Given the description of an element on the screen output the (x, y) to click on. 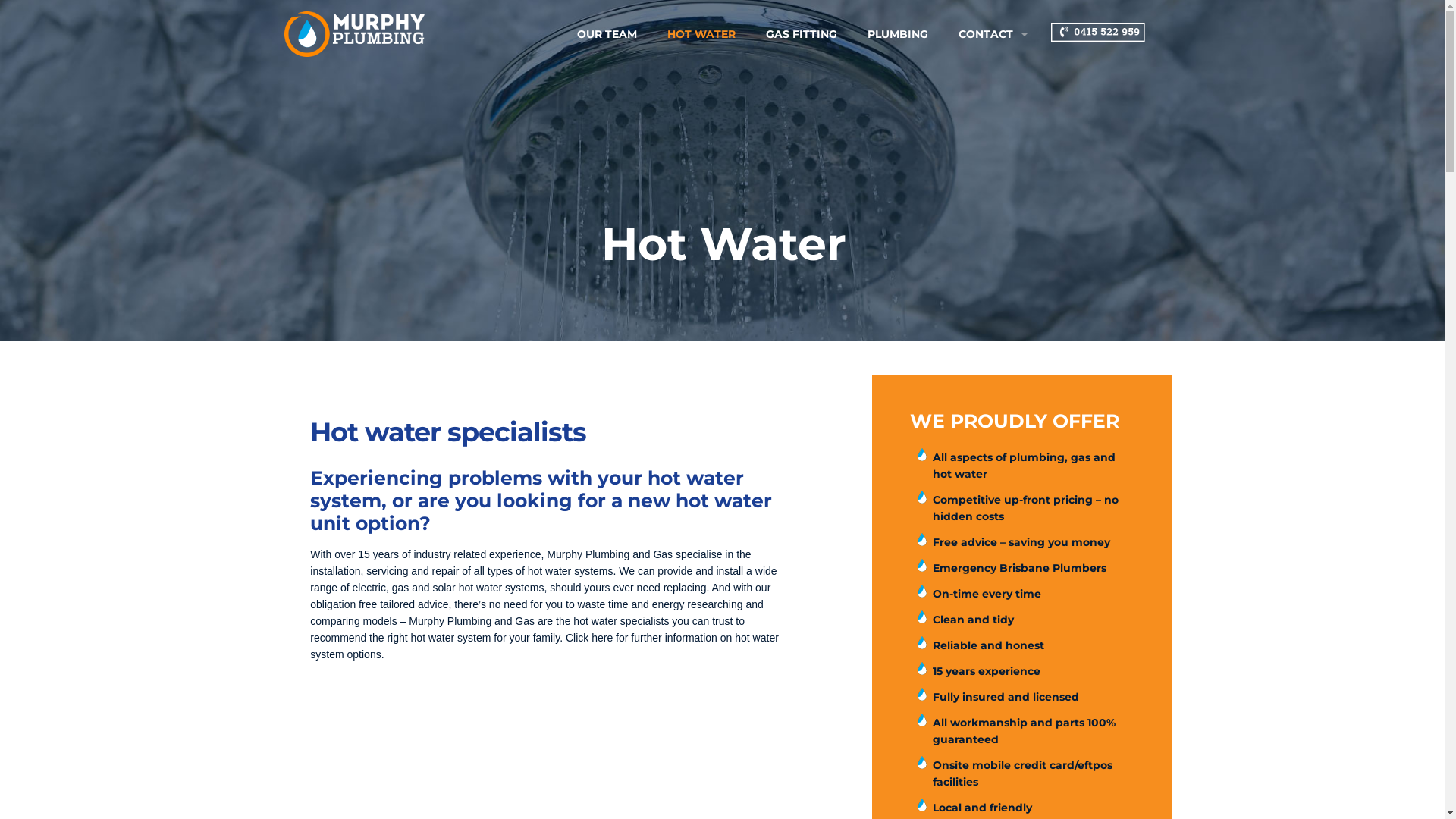
PLUMBING Element type: text (897, 34)
Facebook Element type: hover (722, 764)
OUR TEAM Element type: text (606, 34)
Gas Fitting Element type: text (533, 393)
Emergency Plumbing Element type: text (558, 410)
linkedin Element type: hover (1010, 422)
todd@murphy-plumbing.com.au Element type: text (835, 410)
Plumbing & Drainage Element type: text (558, 376)
Murphy Plumbing and Gas Element type: hover (354, 34)
google Element type: hover (987, 422)
CONTACT Element type: text (989, 34)
facebook Element type: hover (966, 422)
twitter Element type: hover (1031, 422)
GAS FITTING Element type: text (801, 34)
HOT WATER Element type: text (701, 34)
Local Online Marketing Element type: text (880, 740)
Hot Water Element type: text (531, 360)
